Given the description of an element on the screen output the (x, y) to click on. 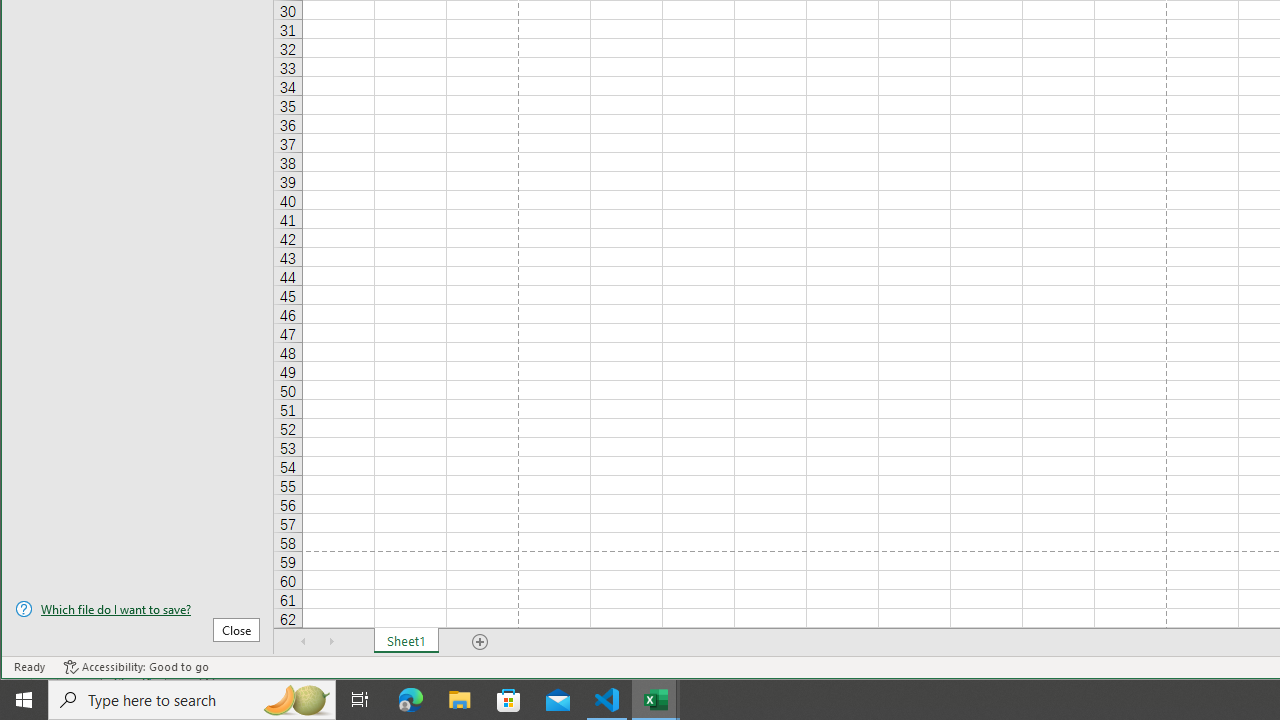
Type here to search (191, 699)
Visual Studio Code - 1 running window (607, 699)
Microsoft Edge (411, 699)
Start (24, 699)
Task View (359, 699)
Search highlights icon opens search home window (295, 699)
File Explorer (460, 699)
Excel - 2 running windows (656, 699)
